Given the description of an element on the screen output the (x, y) to click on. 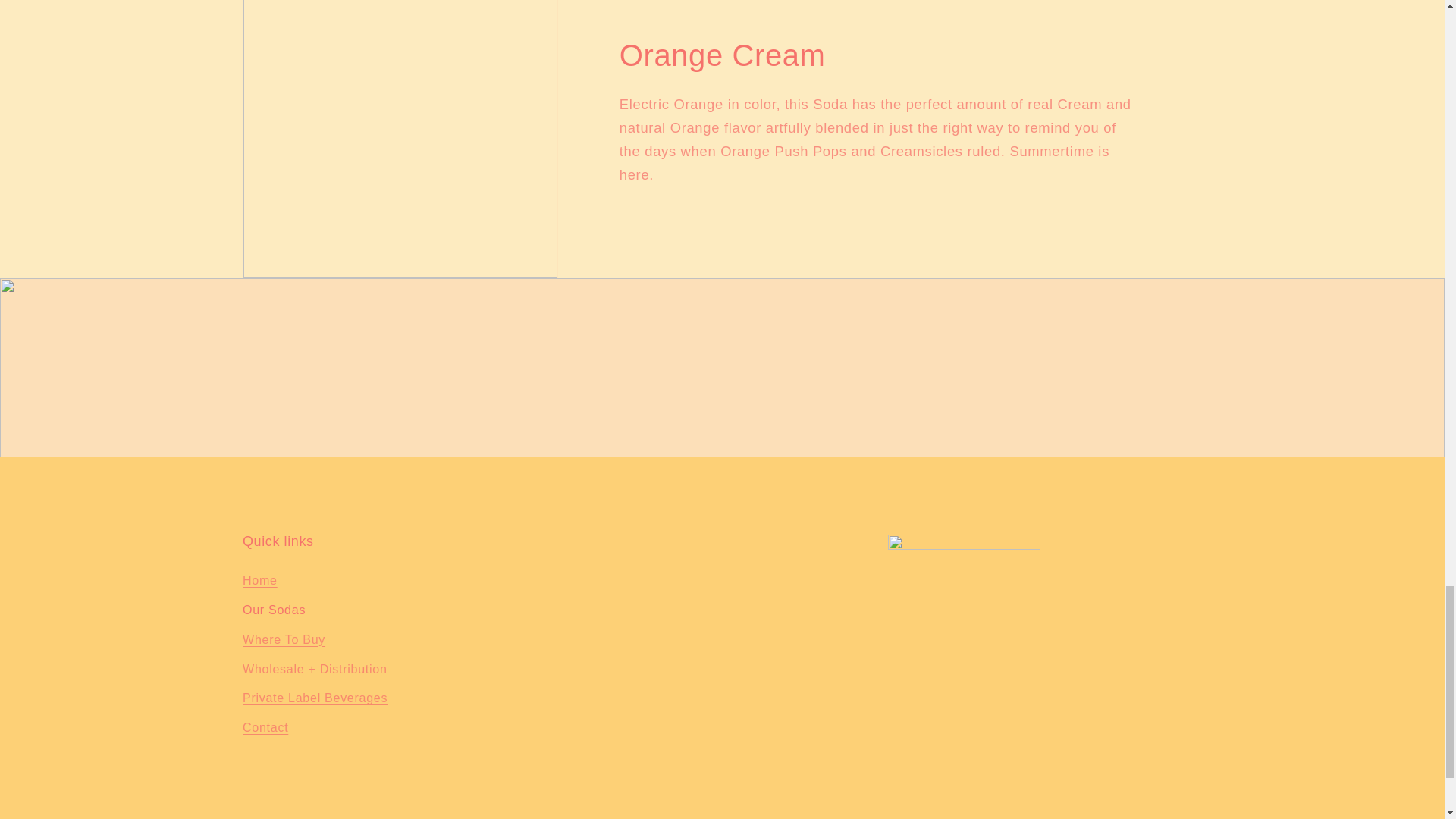
Our Sodas (274, 609)
Where To Buy (283, 639)
Private Label Beverages (315, 698)
Home (260, 582)
Contact (265, 727)
